Given the description of an element on the screen output the (x, y) to click on. 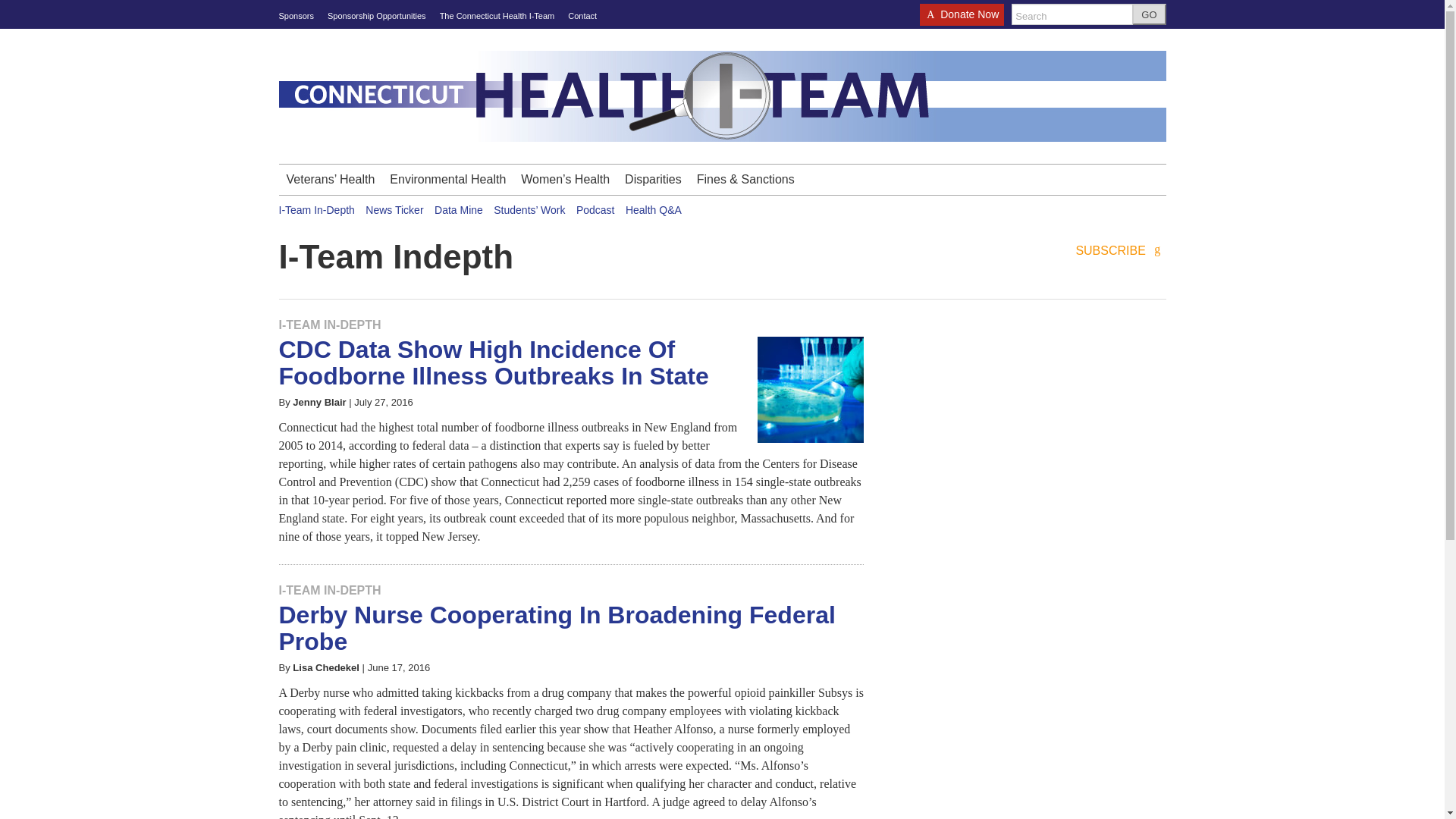
SUBSCRIBE (1120, 251)
Sponsorship Opportunities (376, 15)
Environmental Health (447, 179)
Read Stories in the I-Team In-Depth category (330, 590)
Disparities (652, 179)
More from Lisa Chedekel (325, 667)
The Connecticut Health I-Team (496, 15)
Sponsors (296, 15)
GO (1149, 14)
News Ticker (394, 209)
Donate Now (962, 19)
I-Team In-Depth (317, 209)
Podcast (595, 209)
Contact (581, 15)
I-TEAM IN-DEPTH (330, 324)
